Given the description of an element on the screen output the (x, y) to click on. 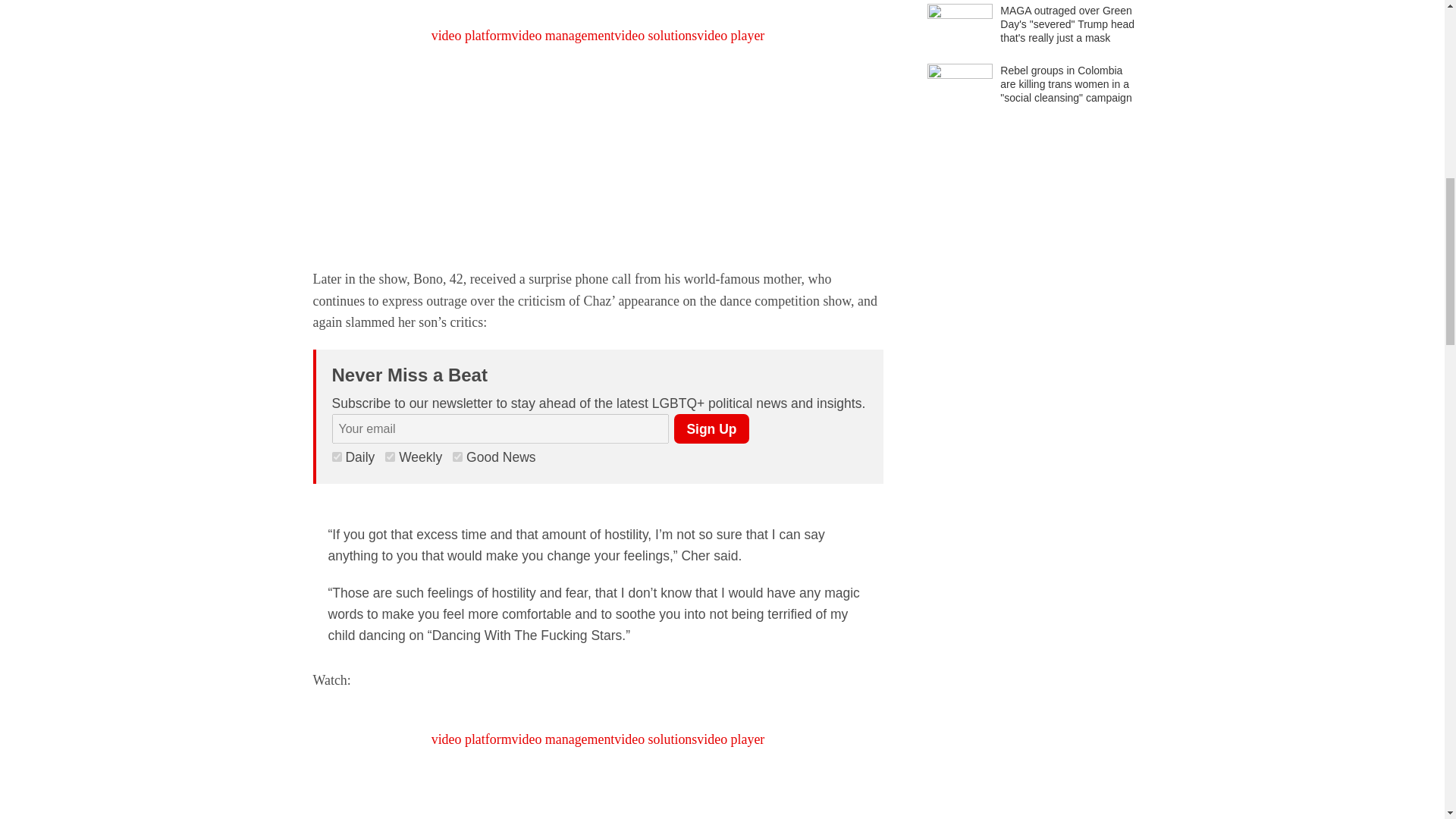
video player (730, 35)
video player (730, 739)
video platform (471, 739)
1920884 (389, 456)
video management (563, 739)
video management (563, 35)
1920883 (457, 456)
1920885 (336, 456)
video solutions (655, 739)
Sign Up (711, 428)
video platform (471, 35)
video solutions (655, 35)
